Given the description of an element on the screen output the (x, y) to click on. 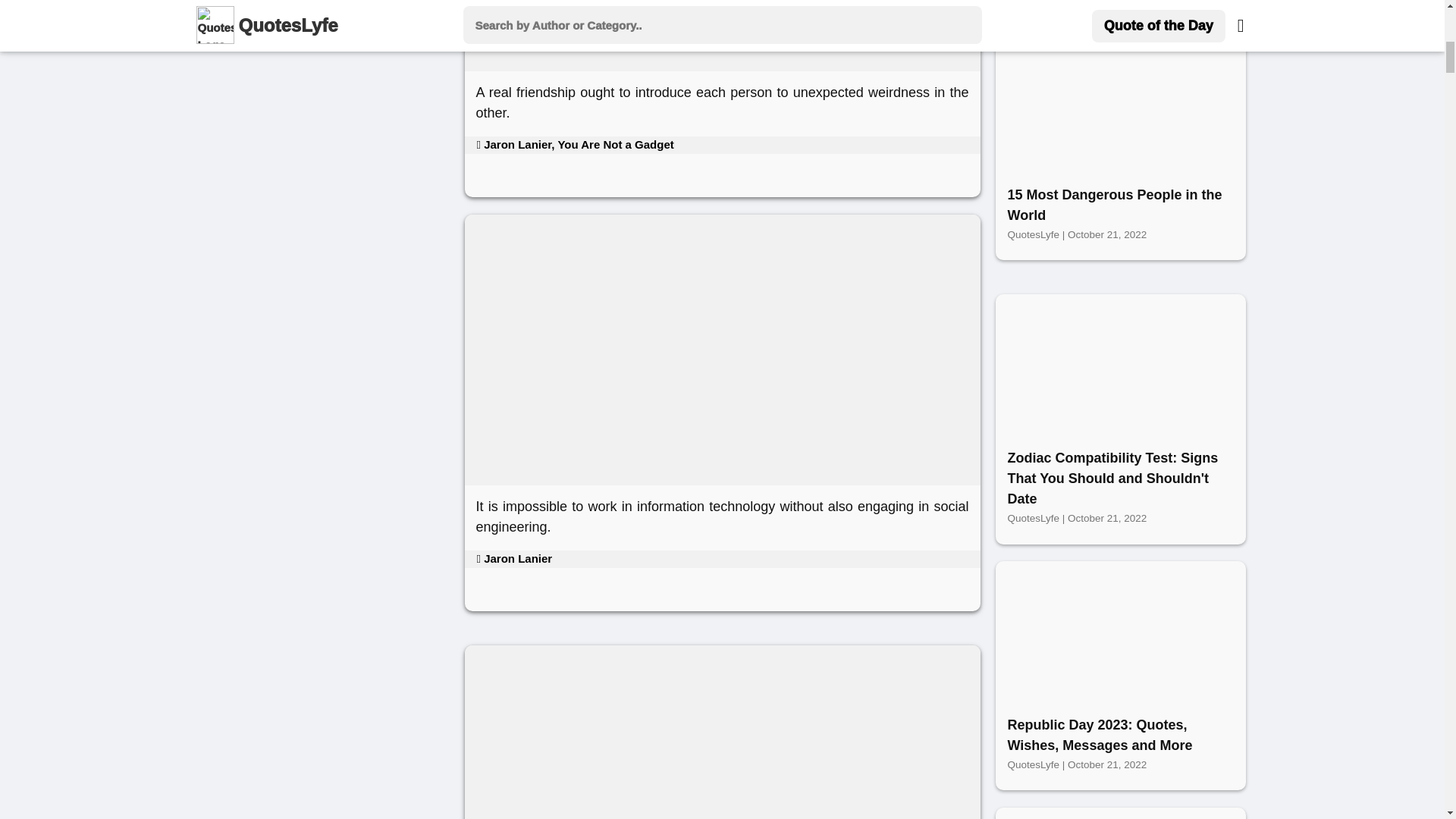
View Jaron Lanier, You Are Not a Gadget Quotes (574, 144)
Jaron Lanier (513, 558)
Jaron Lanier, You Are Not a Gadget (574, 144)
View Jaron Lanier Quotes (513, 558)
